Given the description of an element on the screen output the (x, y) to click on. 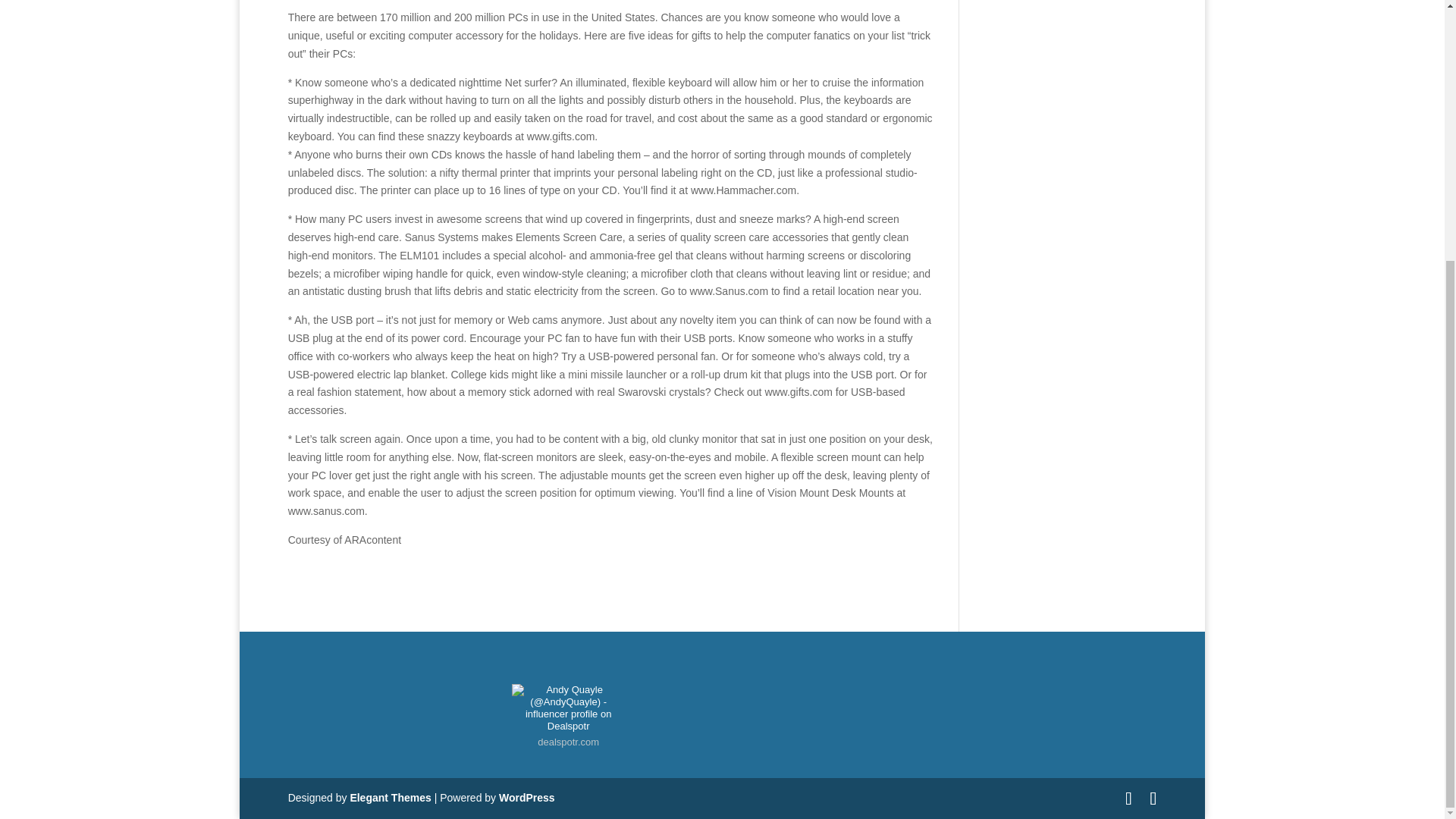
Elegant Themes (389, 797)
WordPress (526, 797)
Premium WordPress Themes (389, 797)
dealspotr.com (567, 741)
